Given the description of an element on the screen output the (x, y) to click on. 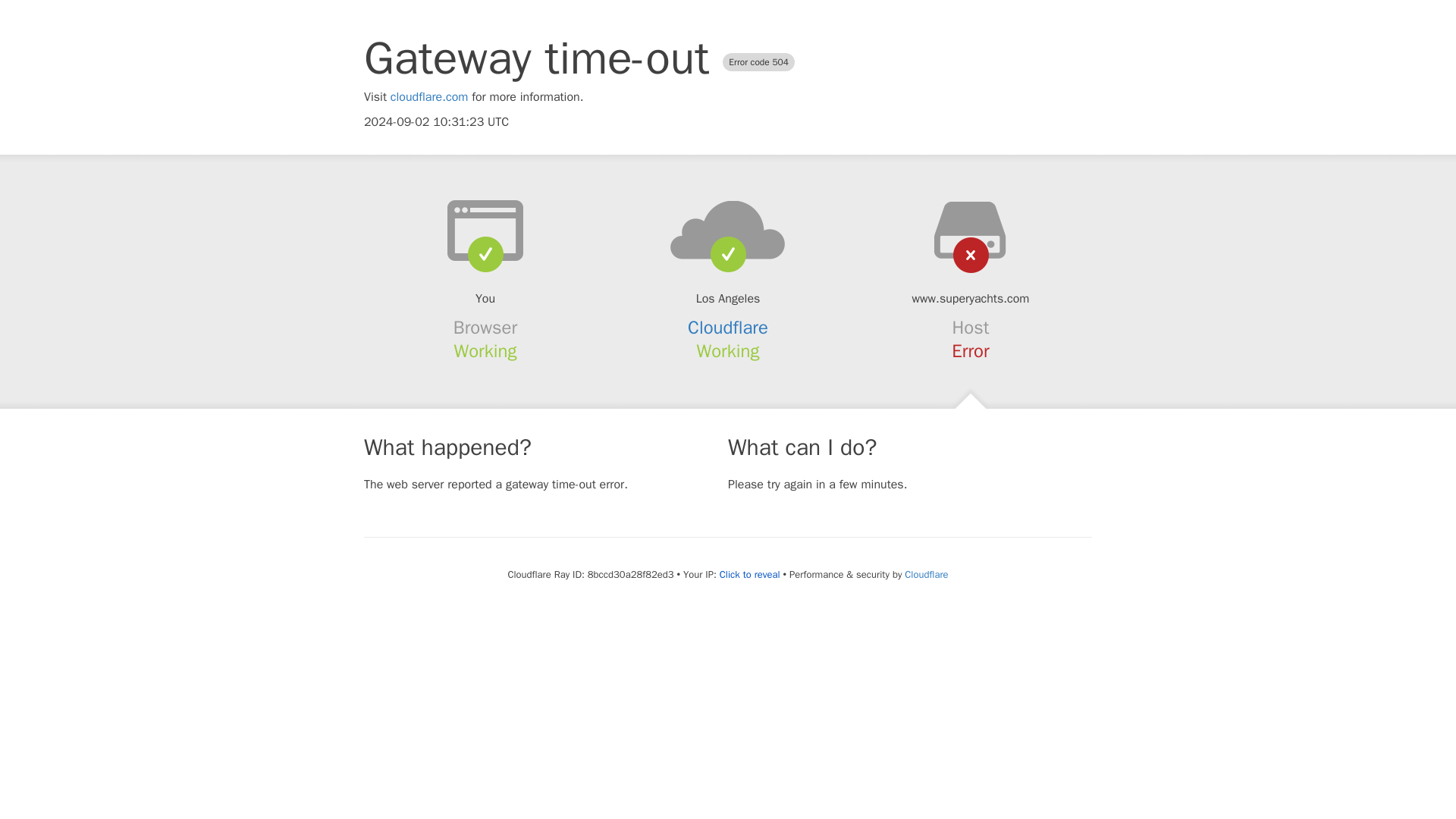
Cloudflare (925, 574)
Cloudflare (727, 327)
Click to reveal (749, 574)
cloudflare.com (429, 96)
